Given the description of an element on the screen output the (x, y) to click on. 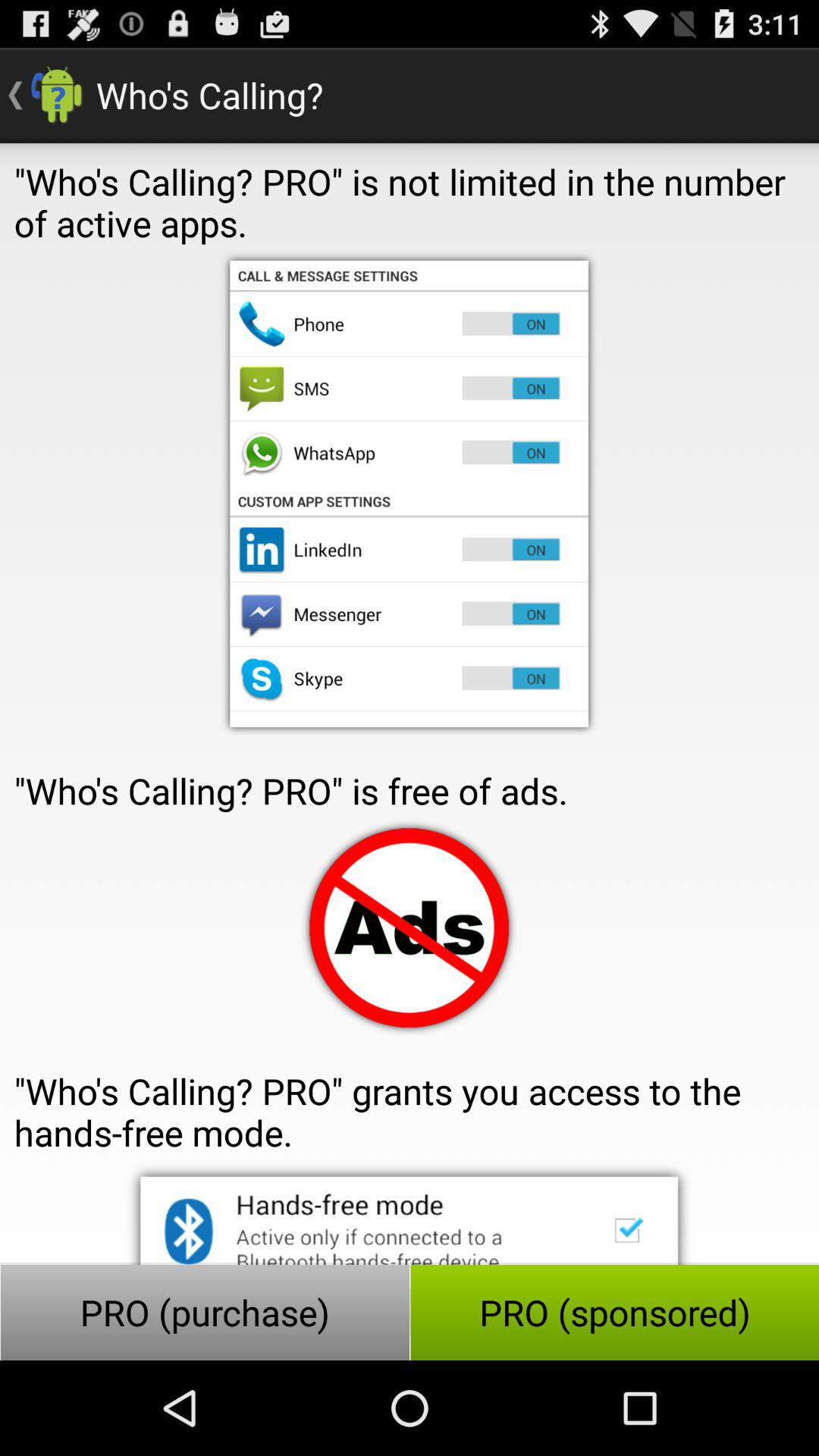
scroll until the pro (purchase) button (204, 1312)
